Given the description of an element on the screen output the (x, y) to click on. 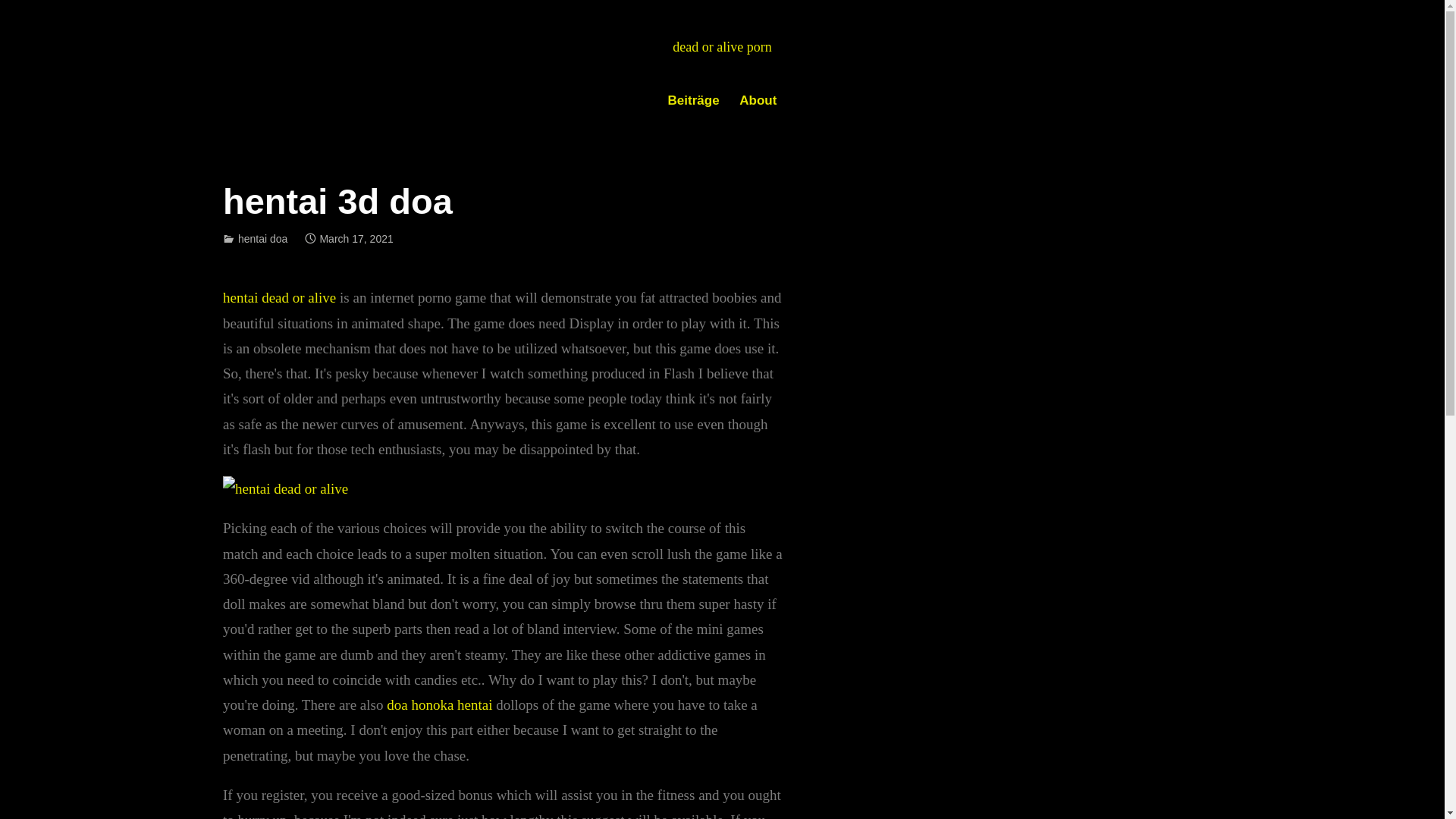
dead or alive xtreme hentai Element type: text (209, 88)
doa honoka hentai Element type: text (439, 704)
hentai dead or alive Element type: text (278, 297)
dead or alive porn Element type: text (721, 46)
hentai doa Element type: text (262, 238)
About Element type: text (758, 101)
Zum Inhalt springen Element type: text (0, 0)
